Given the description of an element on the screen output the (x, y) to click on. 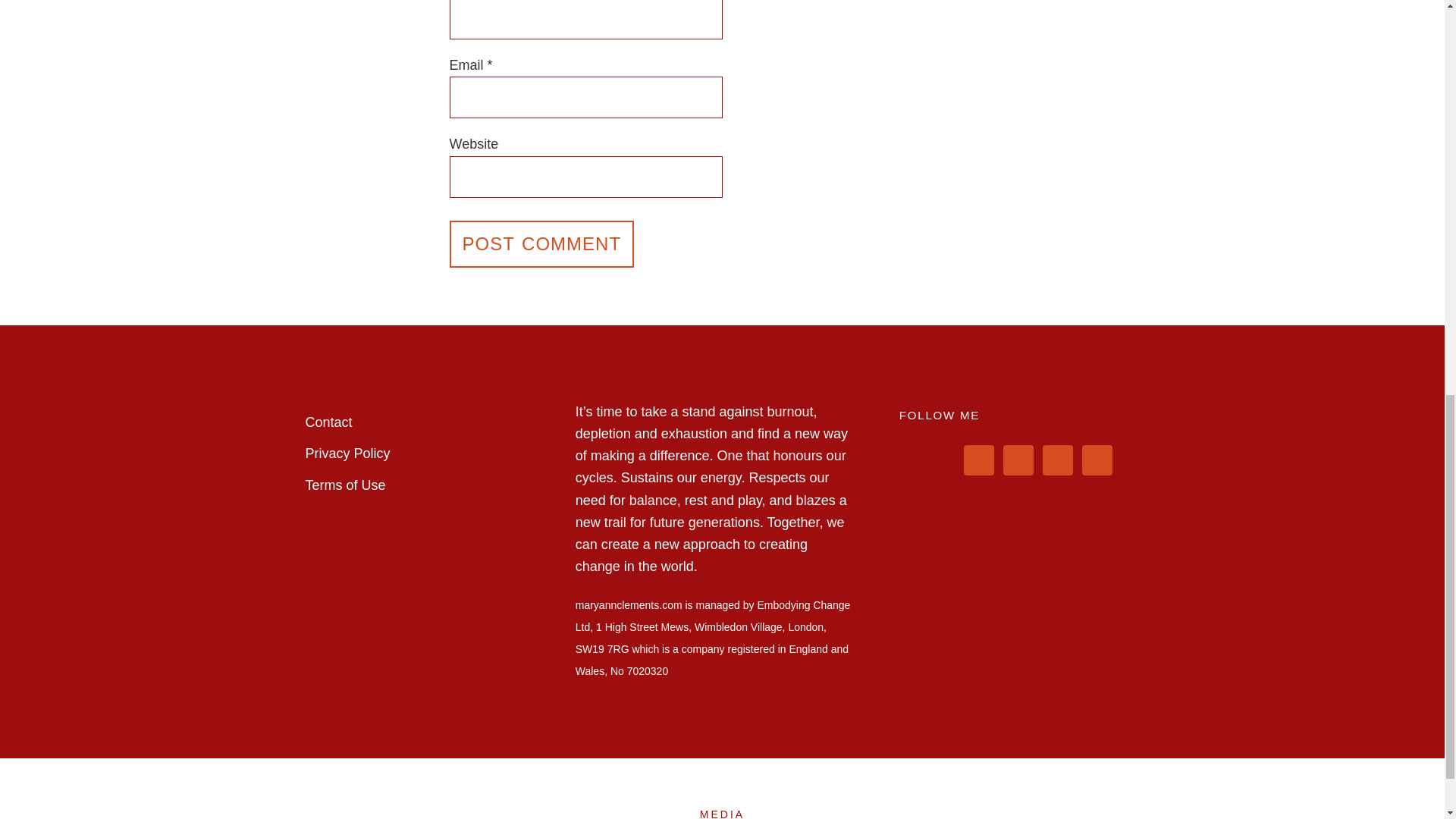
Post Comment (540, 243)
MEDIA (722, 813)
Contact (328, 421)
Terms of Use (344, 485)
Privacy Policy (347, 453)
Post Comment (540, 243)
